Given the description of an element on the screen output the (x, y) to click on. 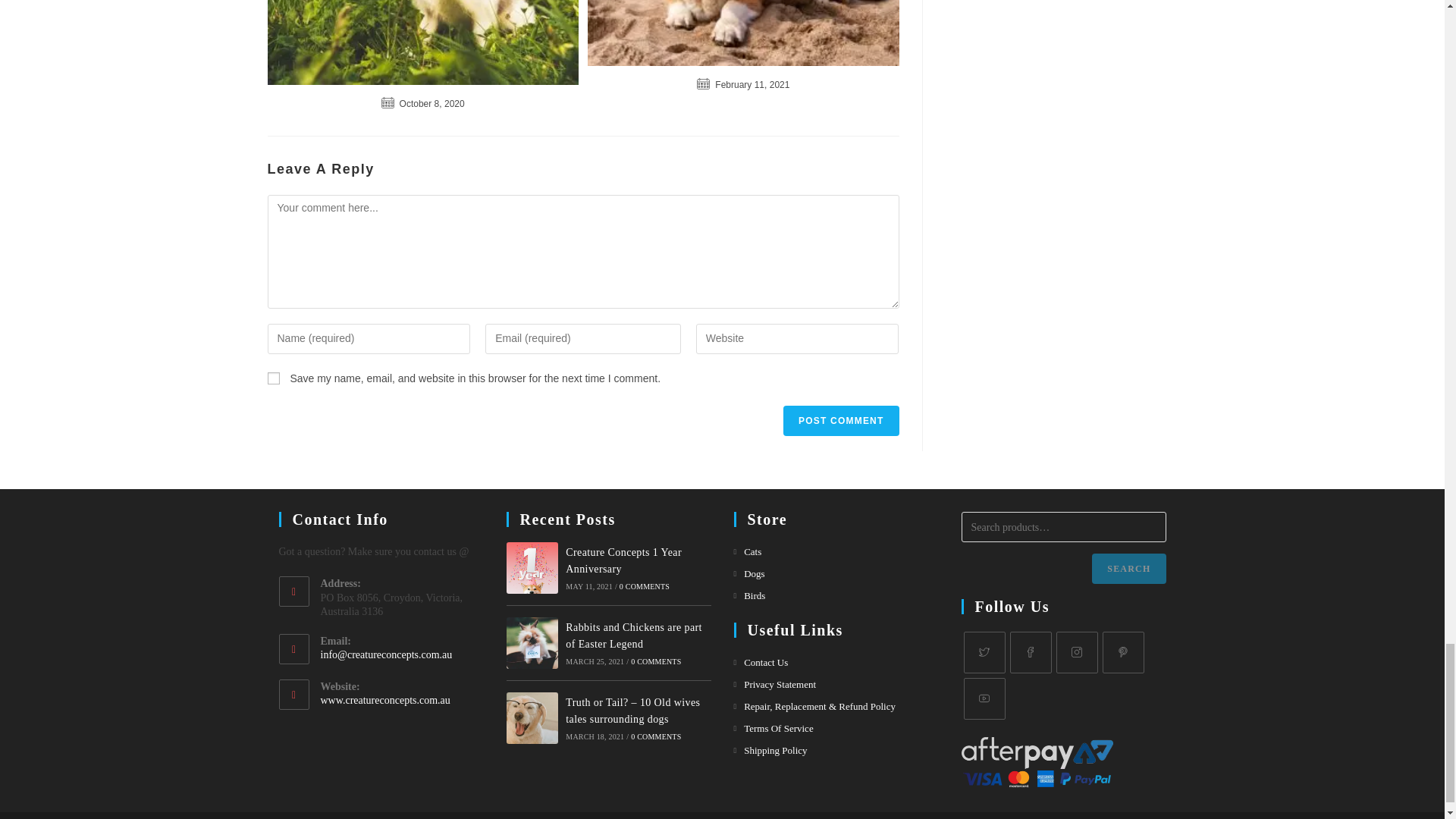
yes (272, 378)
Dog theft (422, 42)
Dog theft (743, 33)
Rabbits and Chickens are part of Easter Legend (531, 643)
Creature Concepts 1 Year Anniversary (531, 567)
Post Comment (840, 420)
